Given the description of an element on the screen output the (x, y) to click on. 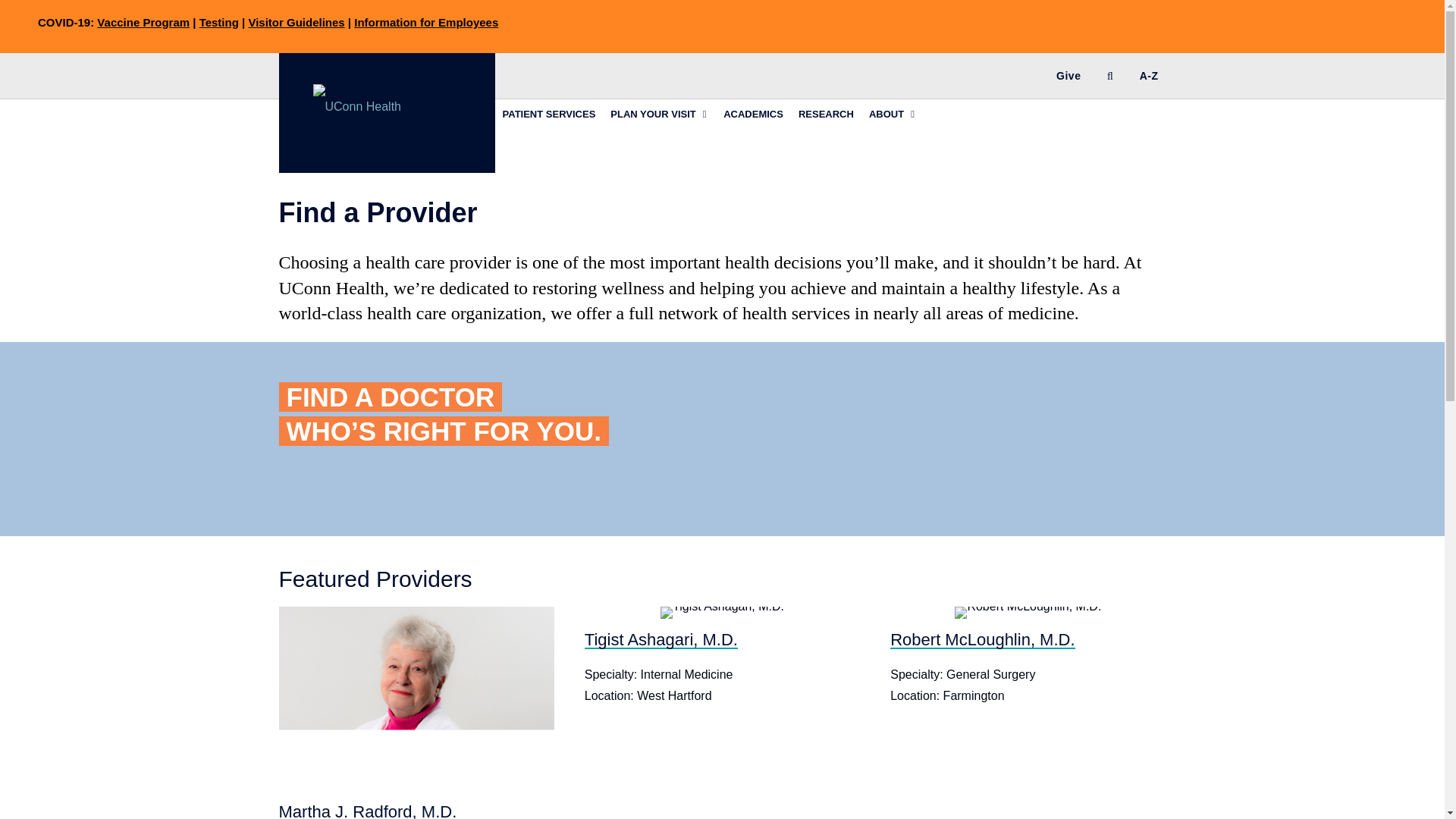
Tigist Ashagari, M.D. (661, 639)
RESEARCH (825, 113)
Vaccine Program (143, 21)
Martha J. Radford, M.D. (368, 810)
A-Z (1149, 75)
ACADEMICS (753, 113)
Robert McLoughlin, M.D. (981, 639)
Visitor Guidelines (295, 21)
Give (1067, 75)
PLAN YOUR VISIT (659, 113)
Martha J. Radford, M.D. (368, 810)
Tigist Ashagari, M.D. (661, 639)
Robert McLoughlin, M.D. (981, 639)
Information for Employees (425, 21)
PATIENT SERVICES (548, 113)
